Given the description of an element on the screen output the (x, y) to click on. 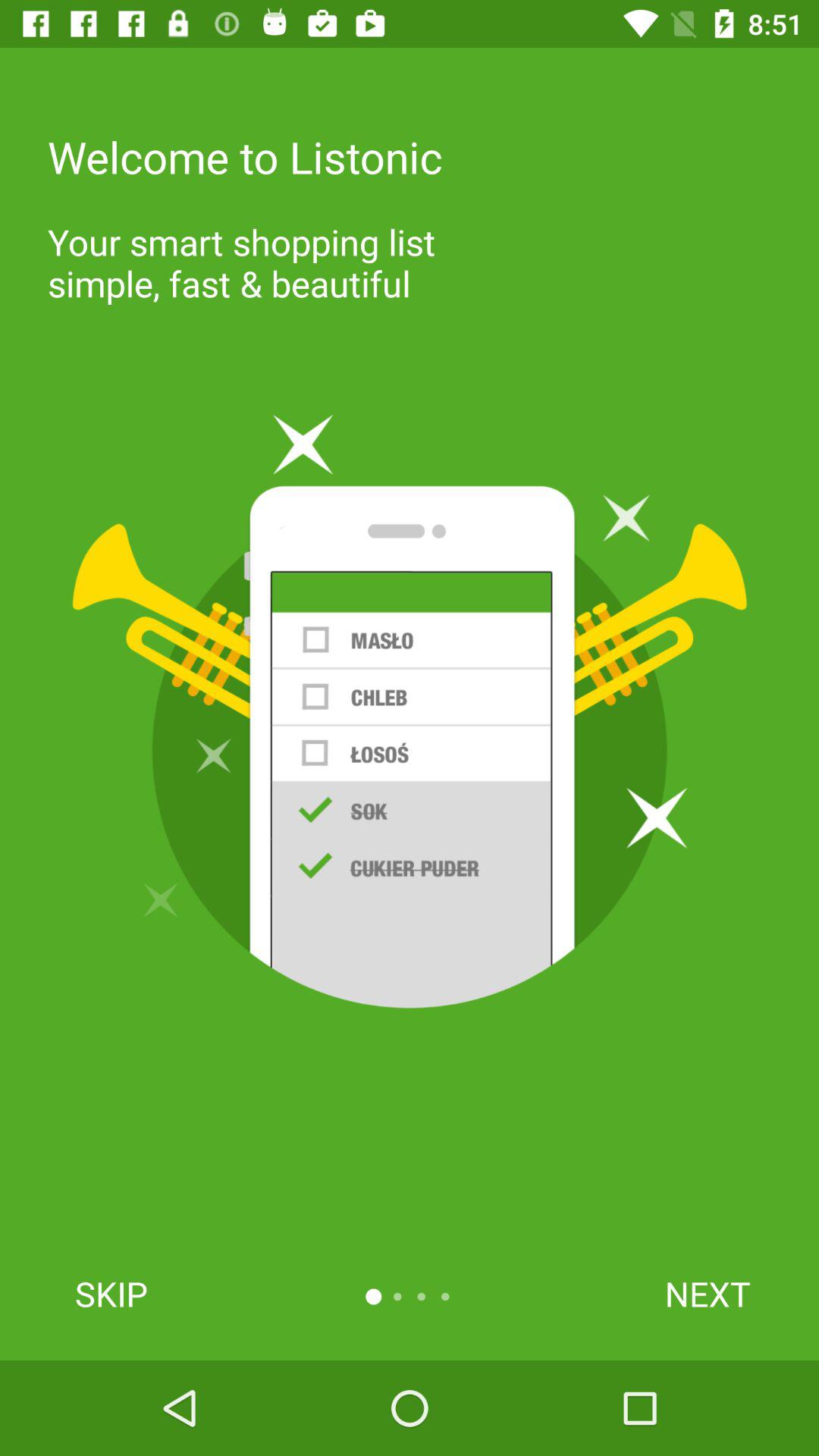
click the skip icon (111, 1293)
